Given the description of an element on the screen output the (x, y) to click on. 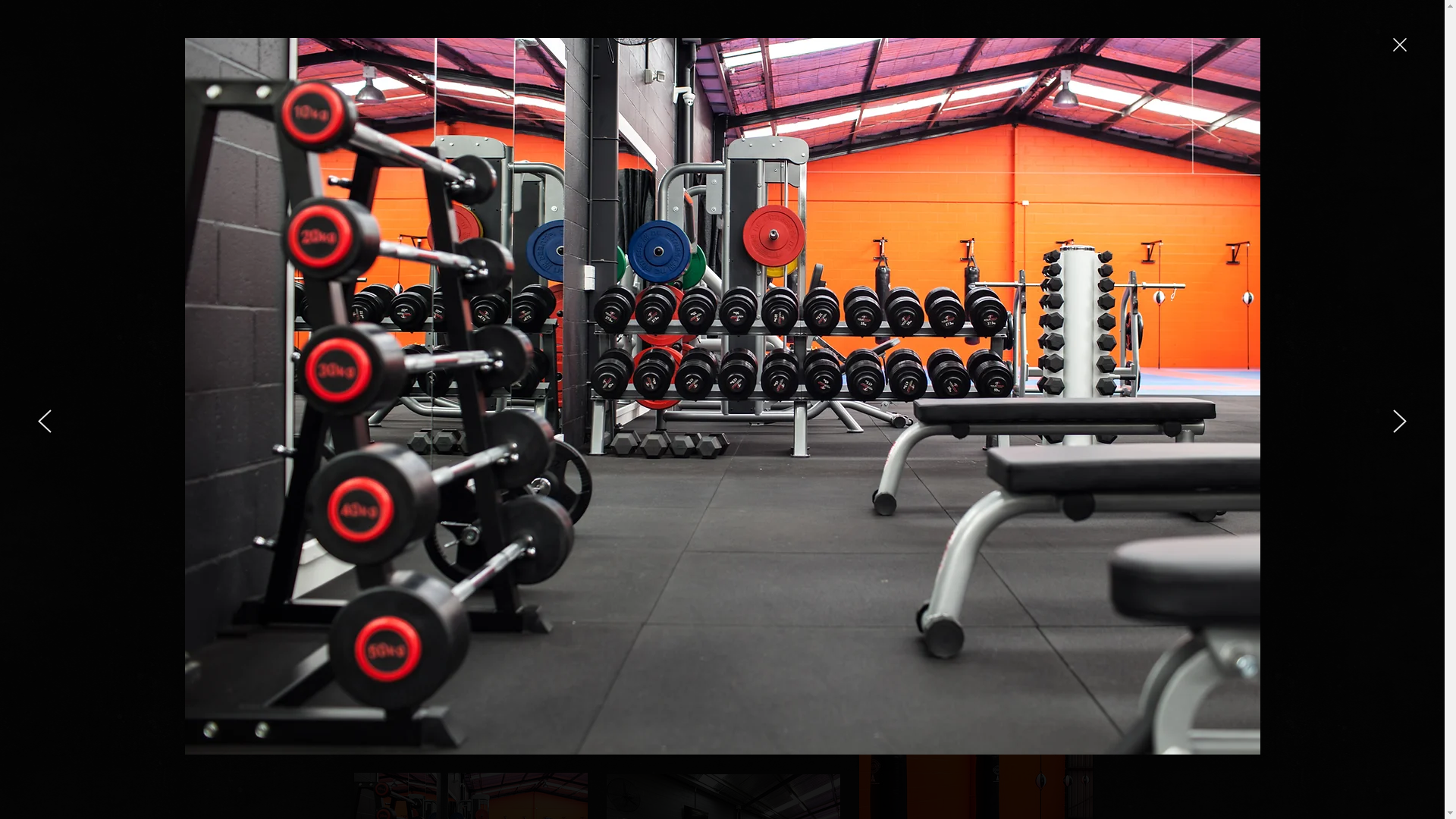
Classes Element type: text (698, 379)
About Us Element type: text (796, 379)
Personal Training Element type: text (915, 379)
Memberships Element type: text (590, 379)
Gallery Element type: text (483, 379)
Home Element type: text (392, 379)
Contact Us Element type: text (1038, 379)
